Given the description of an element on the screen output the (x, y) to click on. 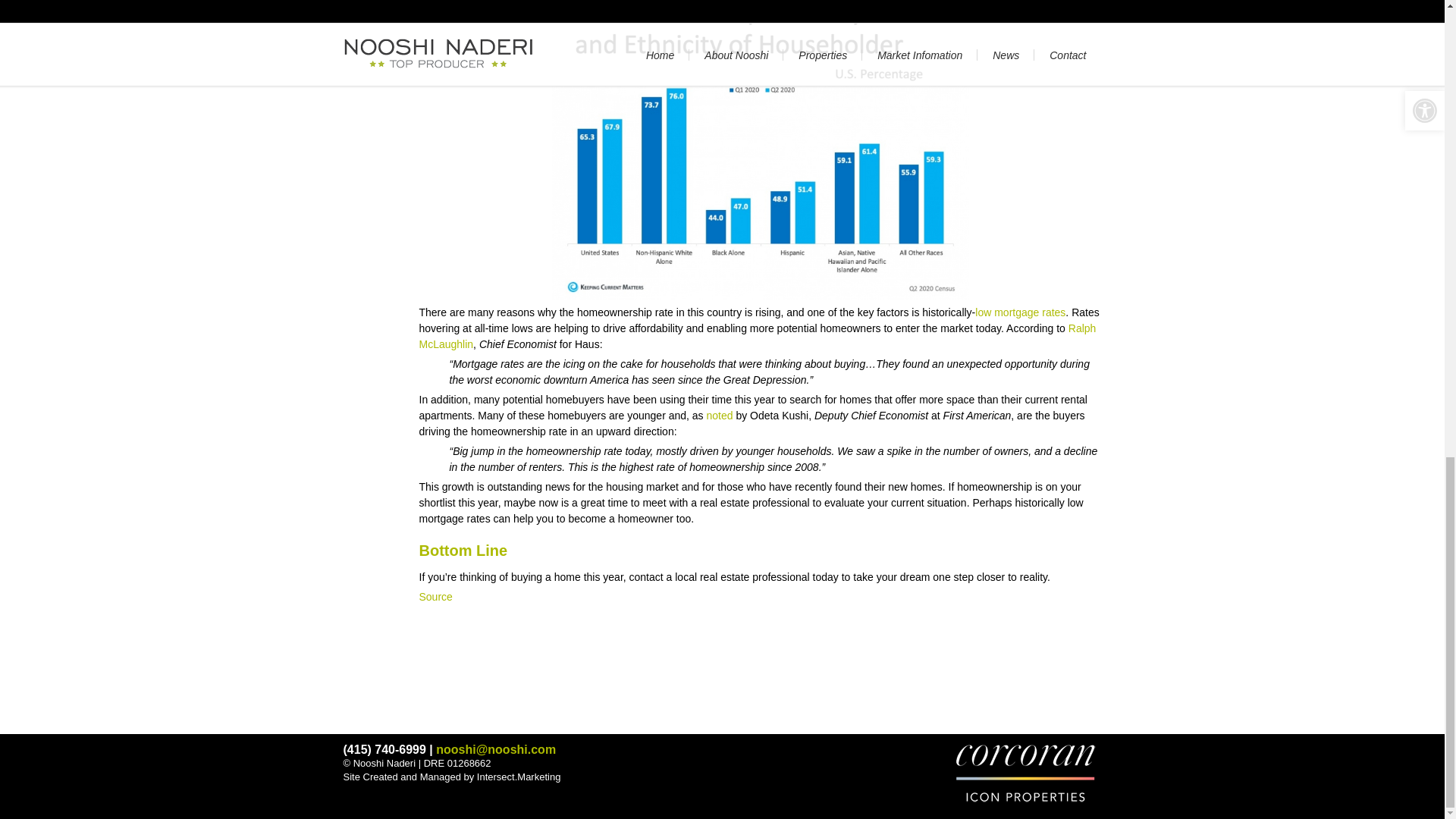
low mortgage rates (1020, 312)
noted (719, 415)
Source (435, 596)
Ralph McLaughlin (757, 336)
Intersect.Marketing (518, 776)
